Given the description of an element on the screen output the (x, y) to click on. 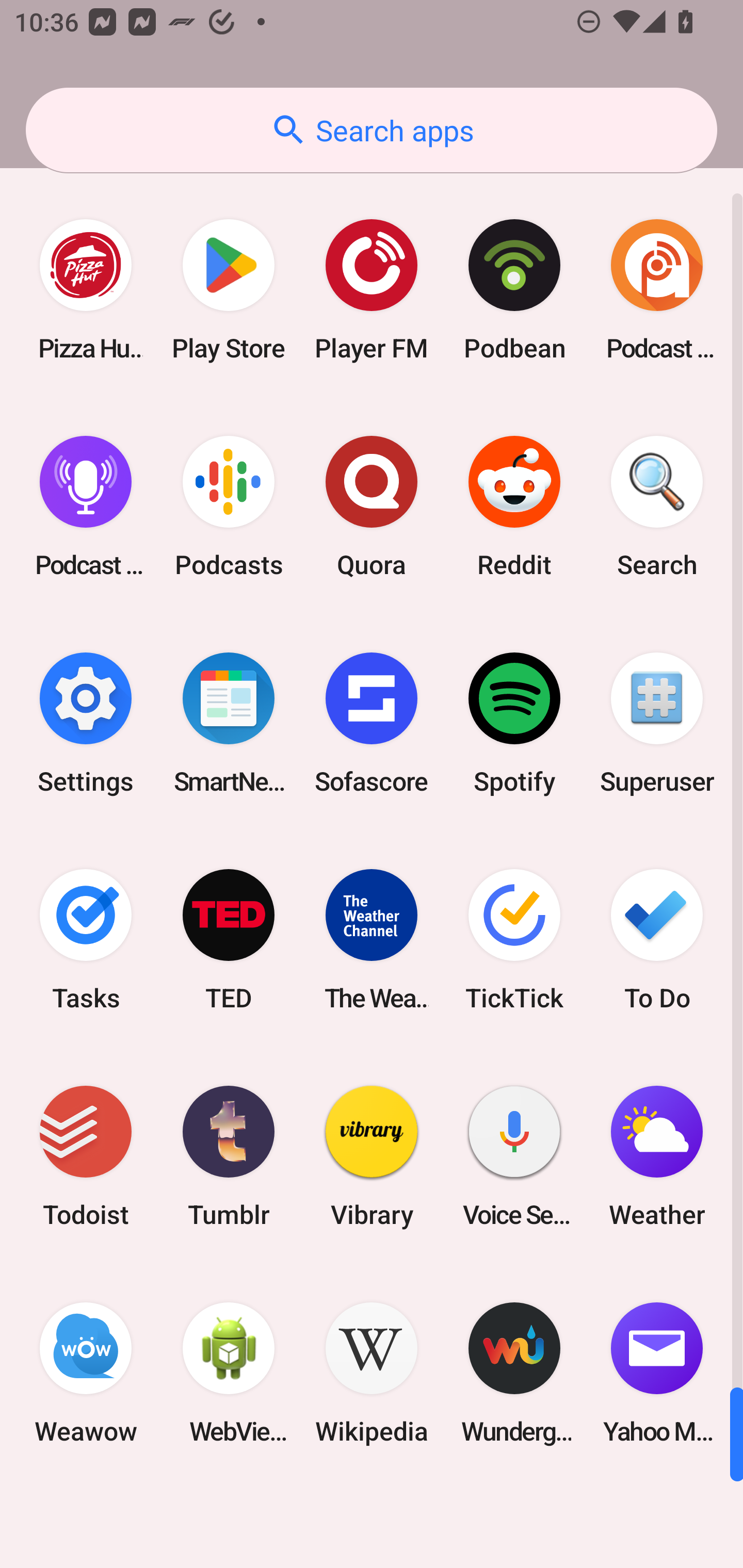
  Search apps (371, 130)
Pizza Hut HK & Macau (85, 289)
Play Store (228, 289)
Player FM (371, 289)
Podbean (514, 289)
Podcast Addict (656, 289)
Podcast Player (85, 506)
Podcasts (228, 506)
Quora (371, 506)
Reddit (514, 506)
Search (656, 506)
Settings (85, 722)
SmartNews (228, 722)
Sofascore (371, 722)
Spotify (514, 722)
Superuser (656, 722)
Tasks (85, 939)
TED (228, 939)
The Weather Channel (371, 939)
TickTick (514, 939)
To Do (656, 939)
Todoist (85, 1156)
Tumblr (228, 1156)
Vibrary (371, 1156)
Voice Search (514, 1156)
Weather (656, 1156)
Weawow (85, 1373)
WebView Browser Tester (228, 1373)
Wikipedia (371, 1373)
Wunderground (514, 1373)
Yahoo Mail (656, 1373)
